Given the description of an element on the screen output the (x, y) to click on. 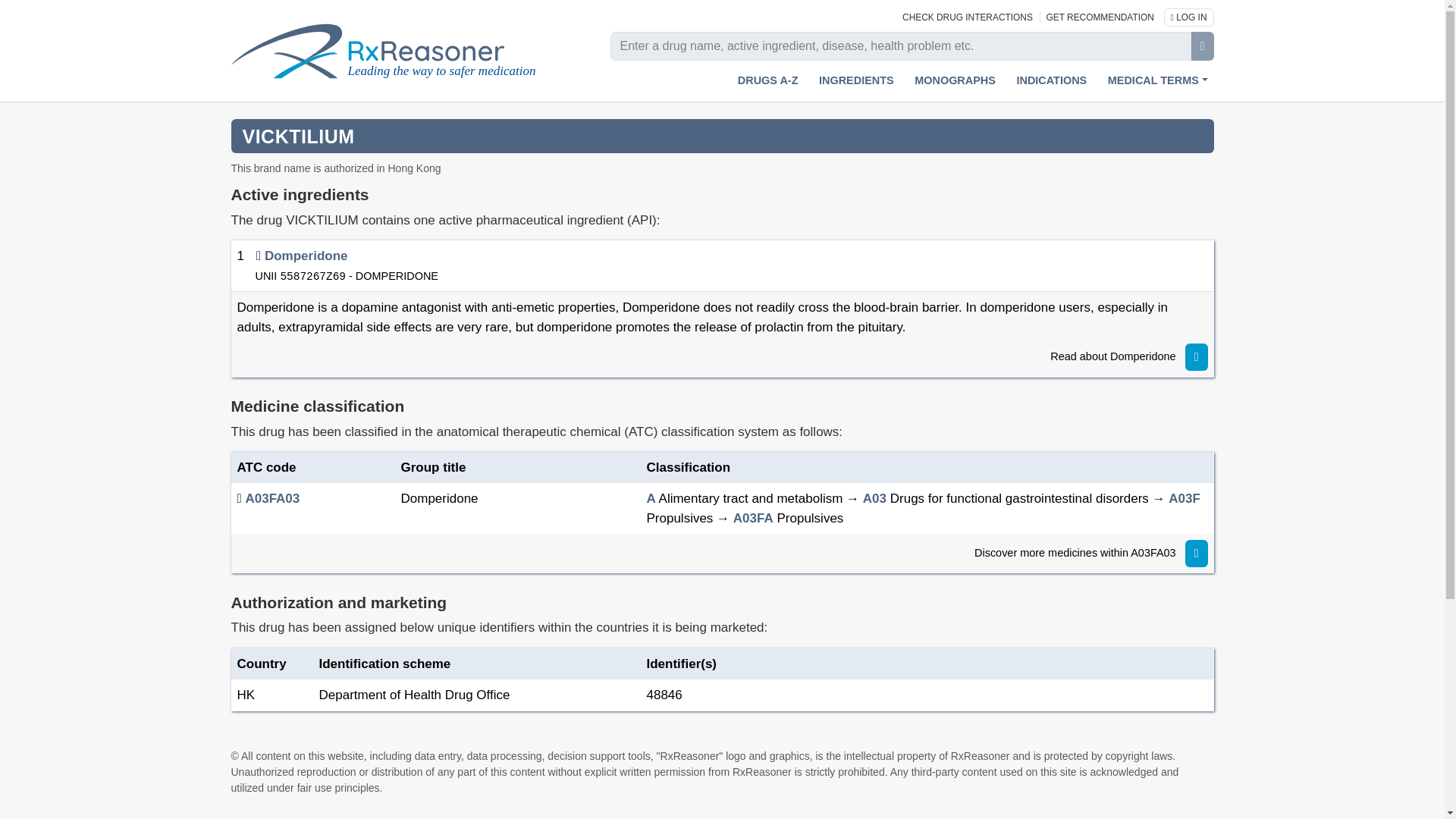
Domperidone (305, 255)
DRUGS A-Z (768, 80)
A03F (1184, 498)
CHECK DRUG INTERACTIONS (968, 17)
GET RECOMMENDATION (1099, 17)
INGREDIENTS (855, 80)
A03FA03 (271, 498)
A03FA (753, 518)
MONOGRAPHS (954, 80)
MEDICAL TERMS (1158, 80)
INDICATIONS (1051, 80)
Leading the way to safer medication (393, 50)
 LOG IN (1188, 16)
A03 (874, 498)
